Given the description of an element on the screen output the (x, y) to click on. 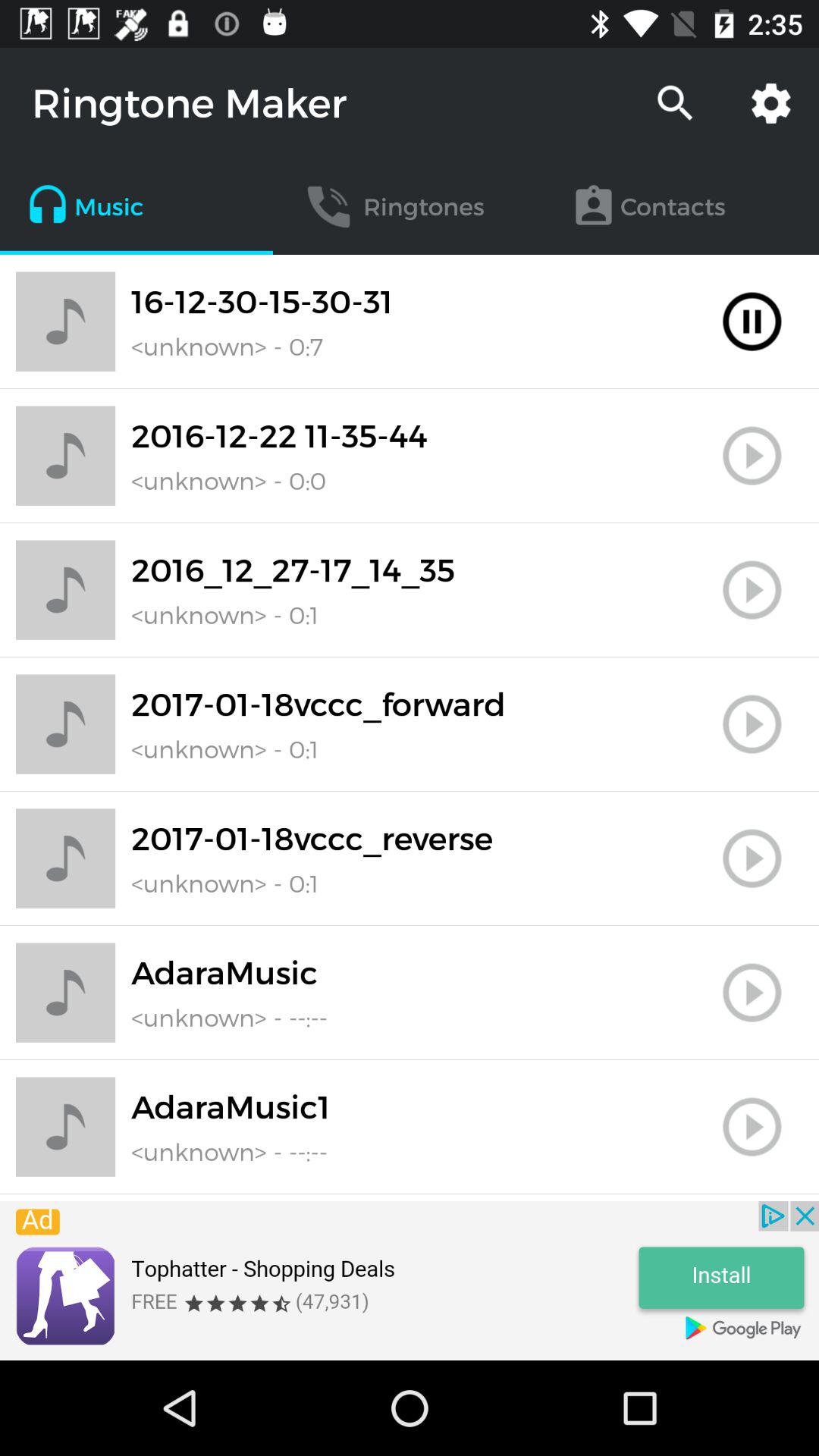
click for advertisement (409, 1280)
